Given the description of an element on the screen output the (x, y) to click on. 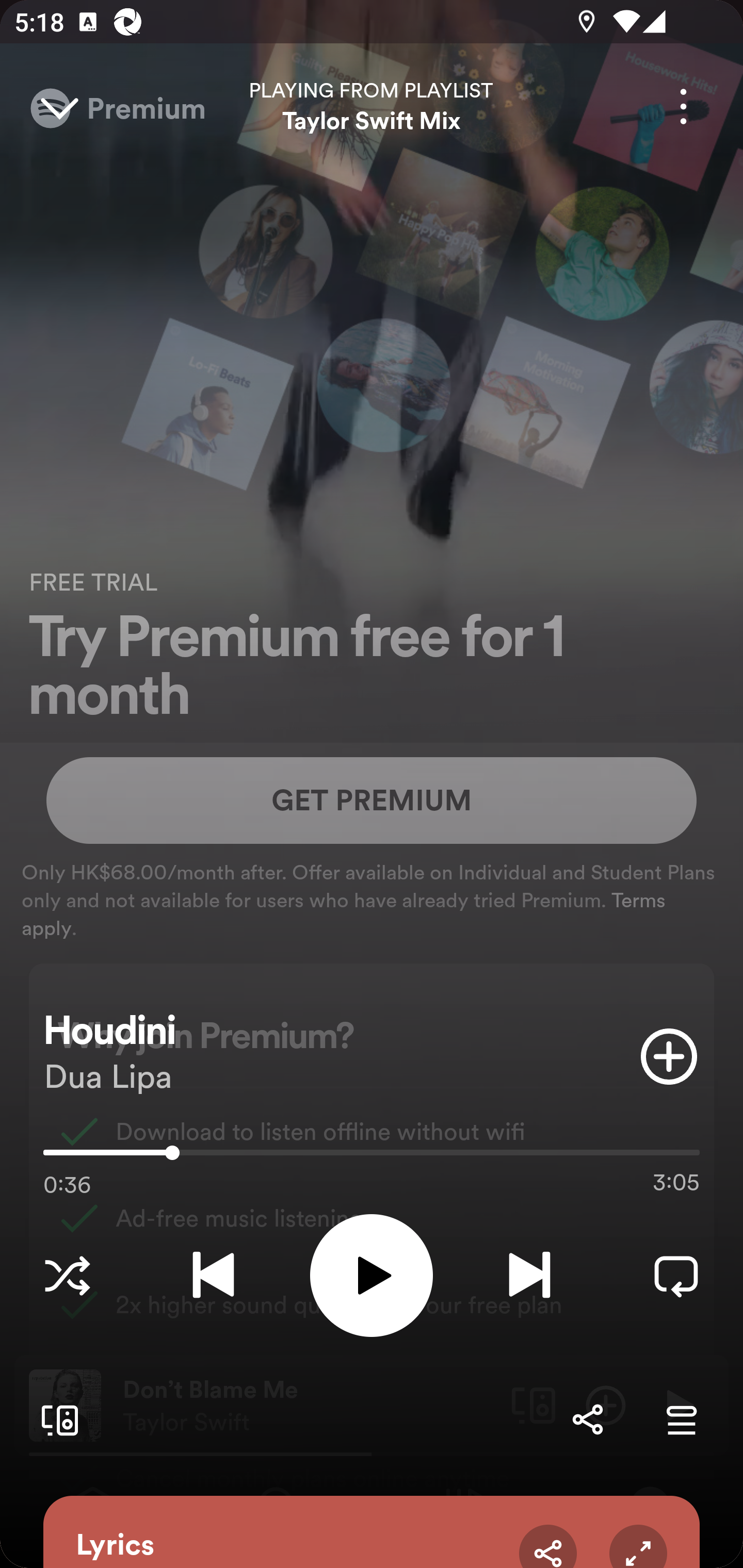
Close (59, 106)
More options for song Houdini (683, 106)
PLAYING FROM PLAYLIST Taylor Swift Mix (371, 106)
Add item (669, 1056)
0:36 3:05 36557.0 Use volume keys to adjust (371, 1157)
Play (371, 1275)
Previous (212, 1275)
Next (529, 1275)
Choose a Listening Mode (66, 1275)
Repeat (676, 1275)
Share (587, 1419)
Go to Queue (681, 1419)
Connect to a device. Opens the devices menu (55, 1419)
Lyrics Share Expand (371, 1531)
Share (547, 1546)
Expand (638, 1546)
